Given the description of an element on the screen output the (x, y) to click on. 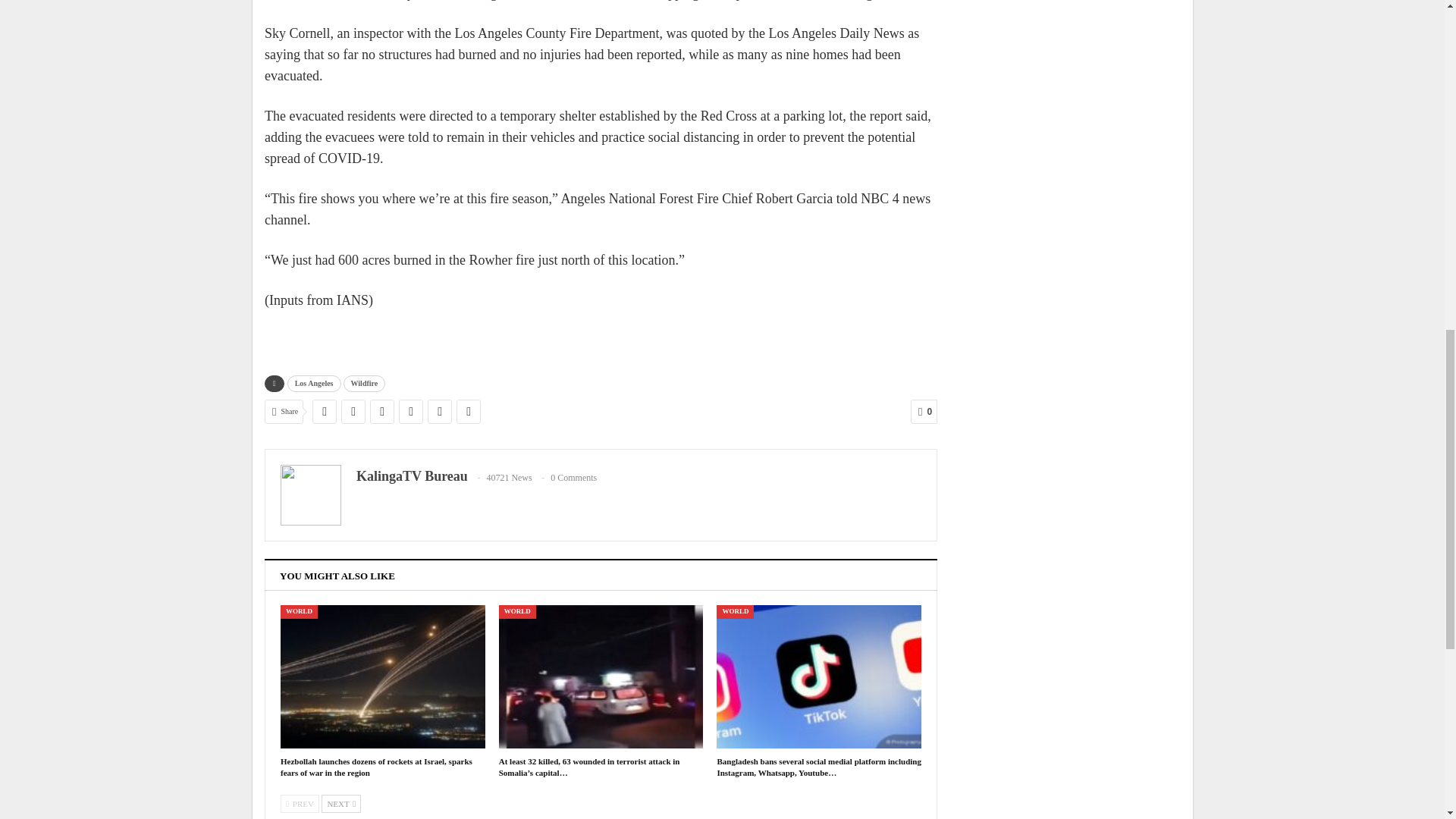
0 (924, 411)
Wildfire (363, 383)
Los Angeles (313, 383)
